Given the description of an element on the screen output the (x, y) to click on. 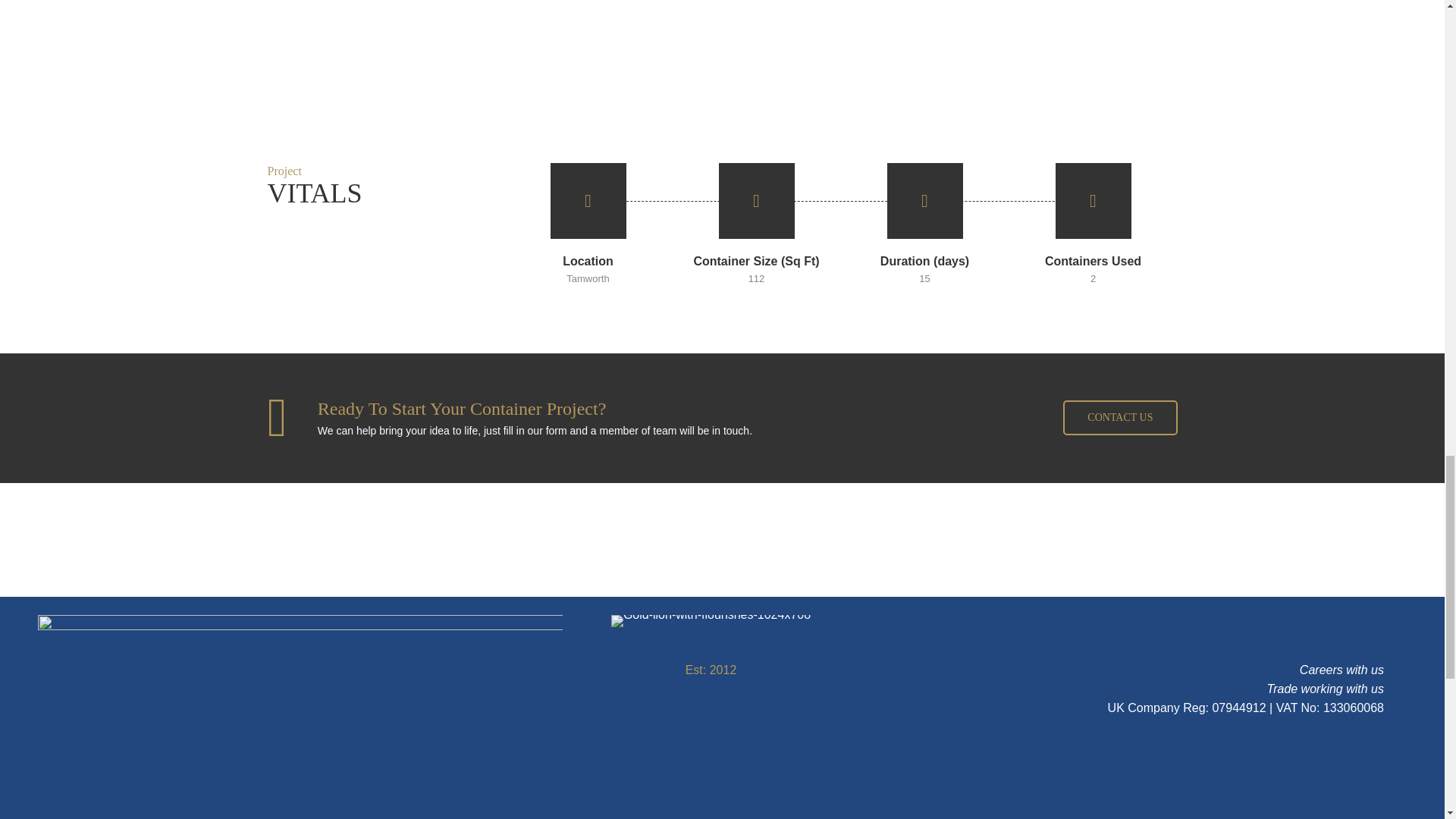
Gold-lion-with-flourishes-1024x708 (710, 621)
Lion-logo-white (299, 717)
